Given the description of an element on the screen output the (x, y) to click on. 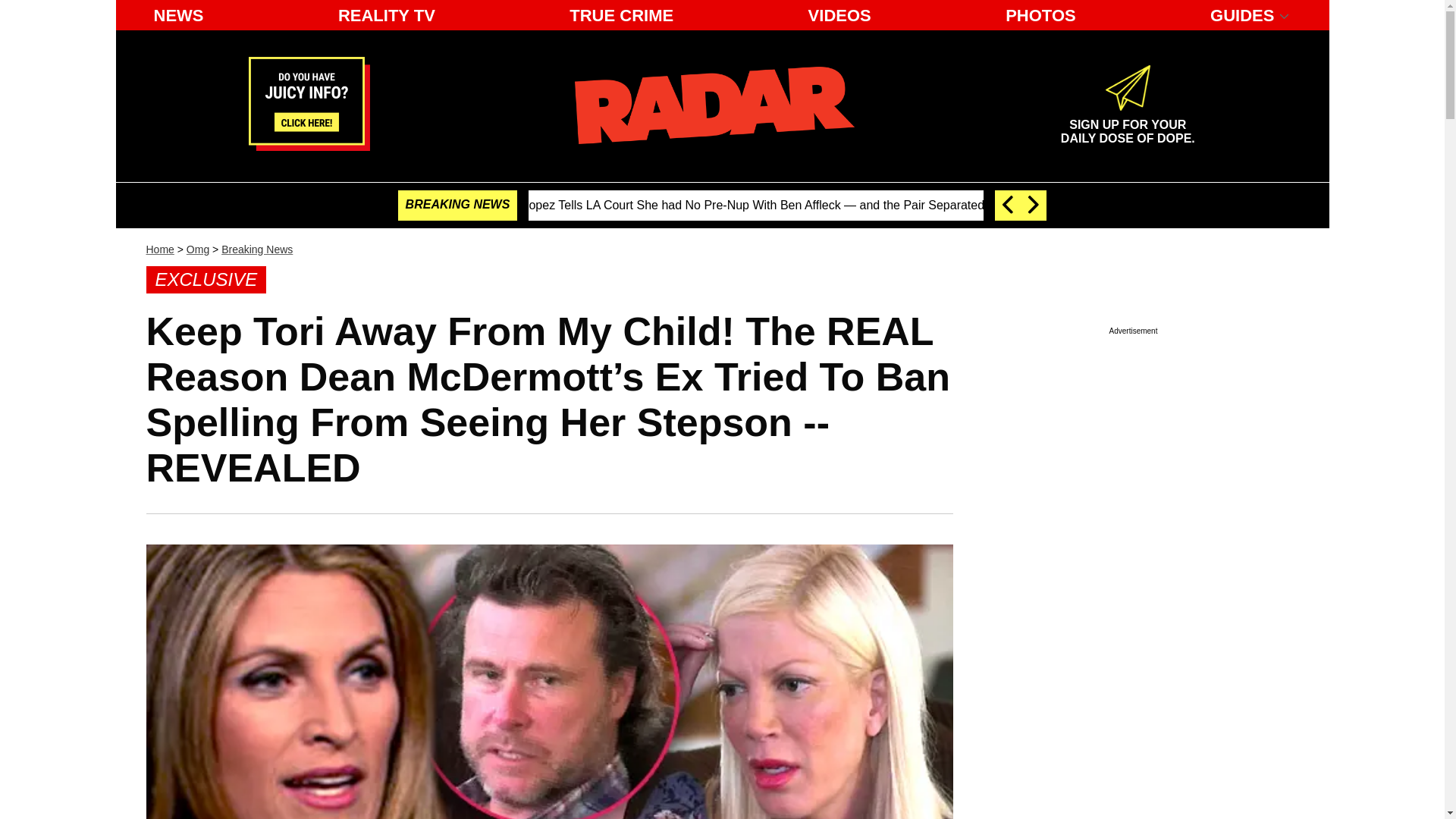
NEWS (178, 15)
PHOTOS (1040, 15)
VIDEOS (839, 15)
Home (1127, 124)
Sign up for your daily dose of dope. (159, 249)
TRUE CRIME (1127, 124)
Breaking News (621, 15)
Omg (256, 249)
REALITY TV (197, 249)
